Given the description of an element on the screen output the (x, y) to click on. 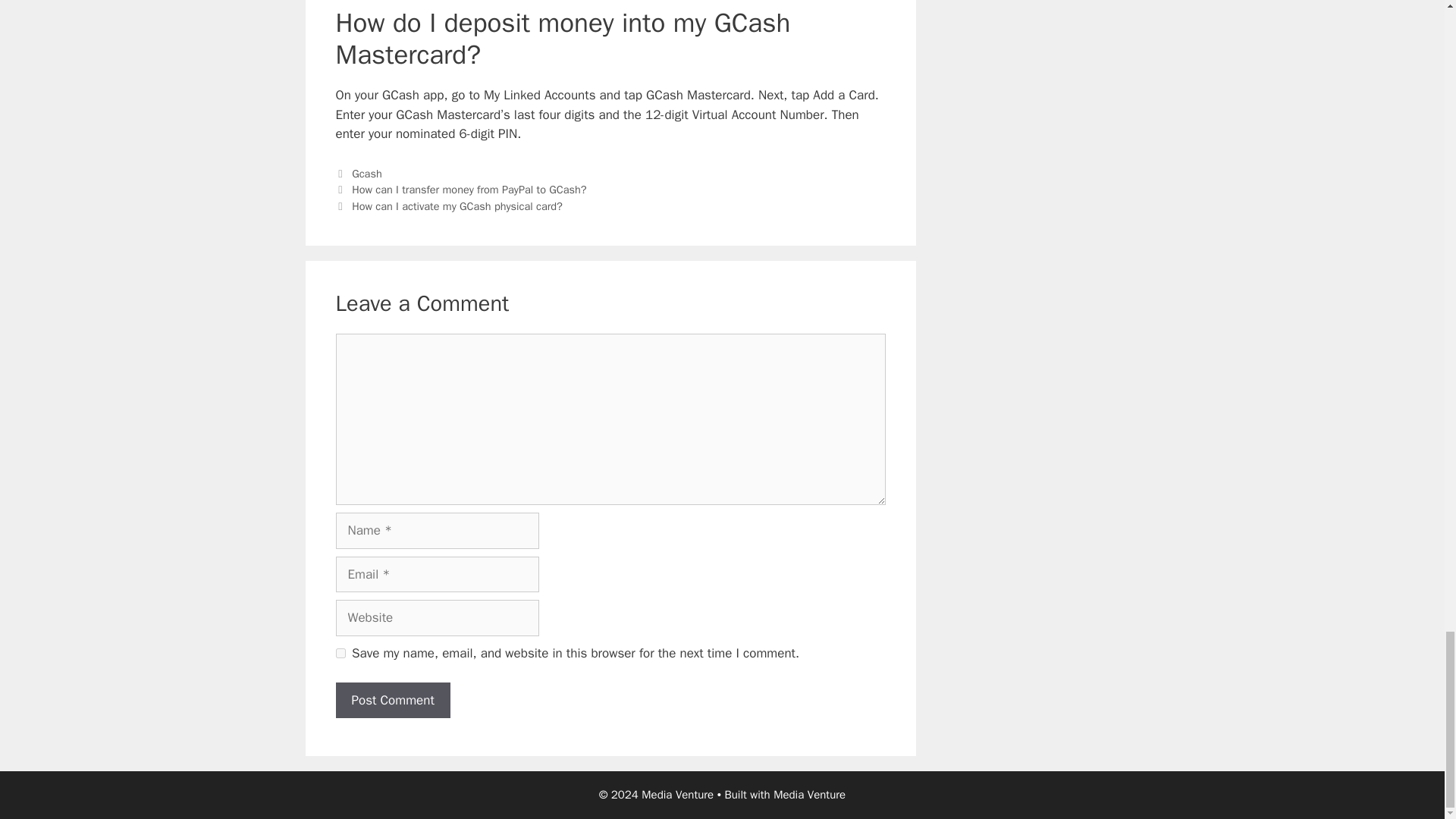
yes (339, 653)
Post Comment (391, 700)
Media Venture (809, 794)
Post Comment (391, 700)
How can I activate my GCash physical card? (457, 205)
How can I transfer money from PayPal to GCash? (469, 189)
Gcash (366, 173)
